Given the description of an element on the screen output the (x, y) to click on. 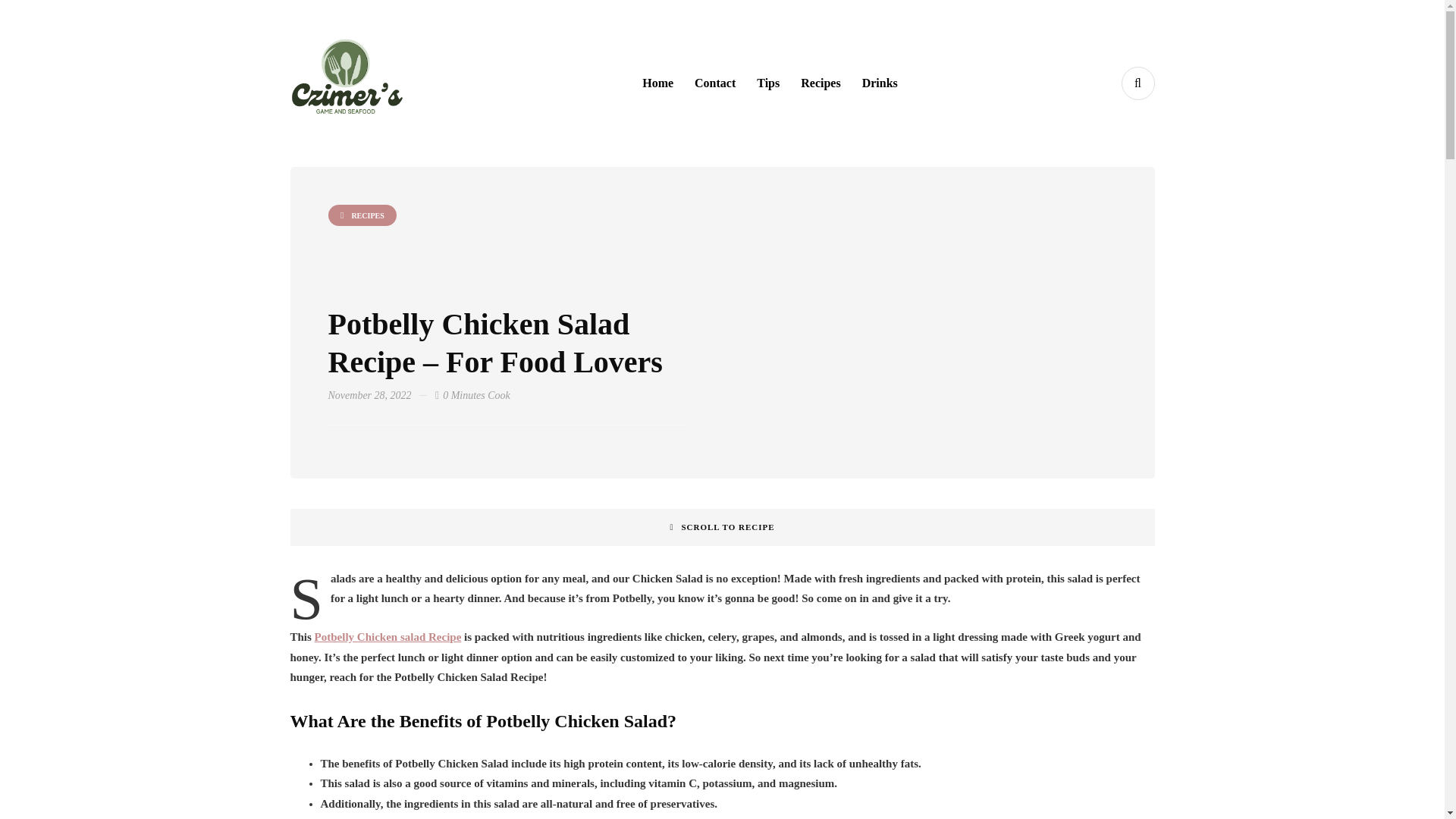
Drinks (879, 82)
Tips (767, 82)
SCROLL TO RECIPE (721, 526)
Contact (714, 82)
RECIPES (361, 215)
Recipes (820, 82)
Potbelly Chicken salad Recipe (387, 636)
SCROLL TO RECIPE (721, 526)
Home (657, 82)
